Given the description of an element on the screen output the (x, y) to click on. 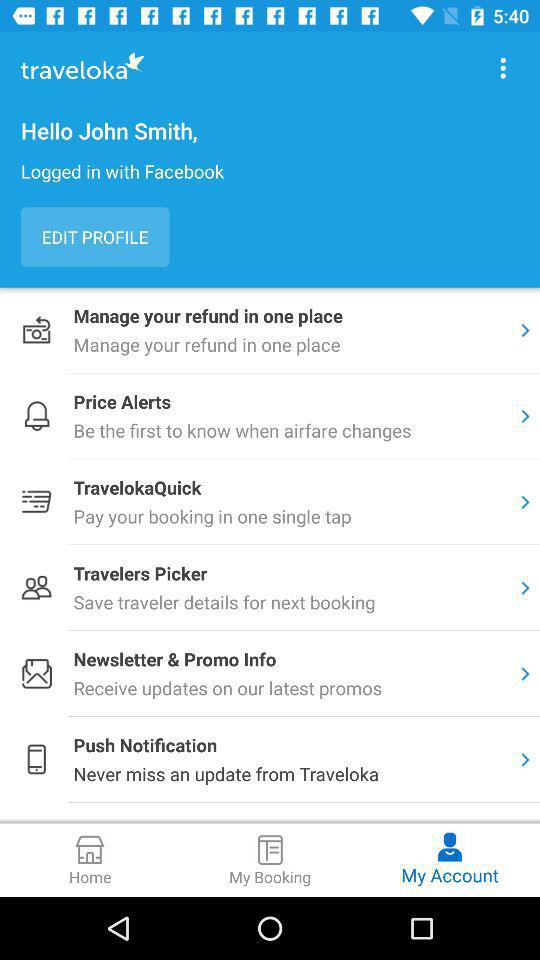
press the edit profile (95, 236)
